Given the description of an element on the screen output the (x, y) to click on. 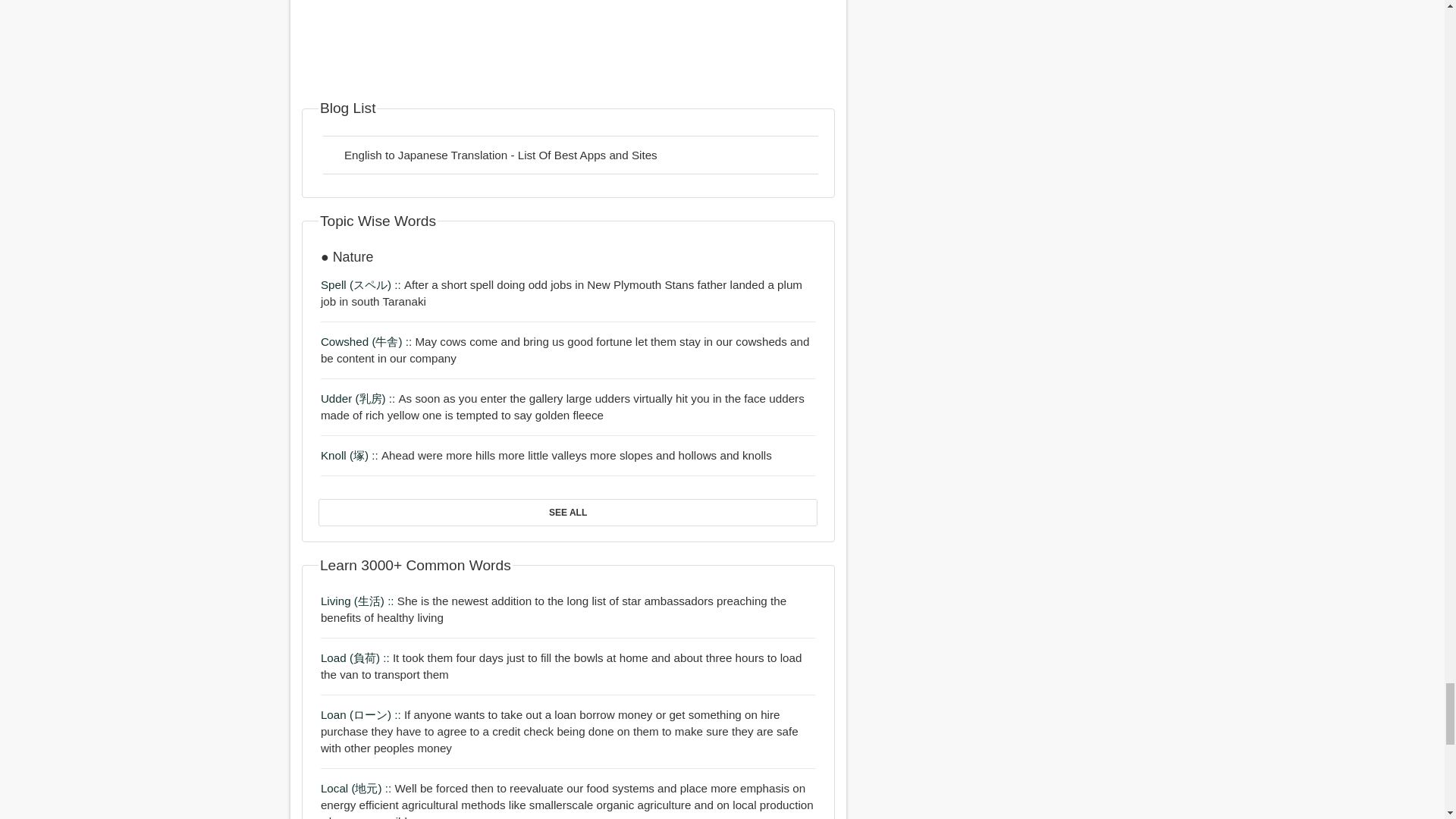
SEE ALL (567, 511)
SEE ALL (567, 512)
